Given the description of an element on the screen output the (x, y) to click on. 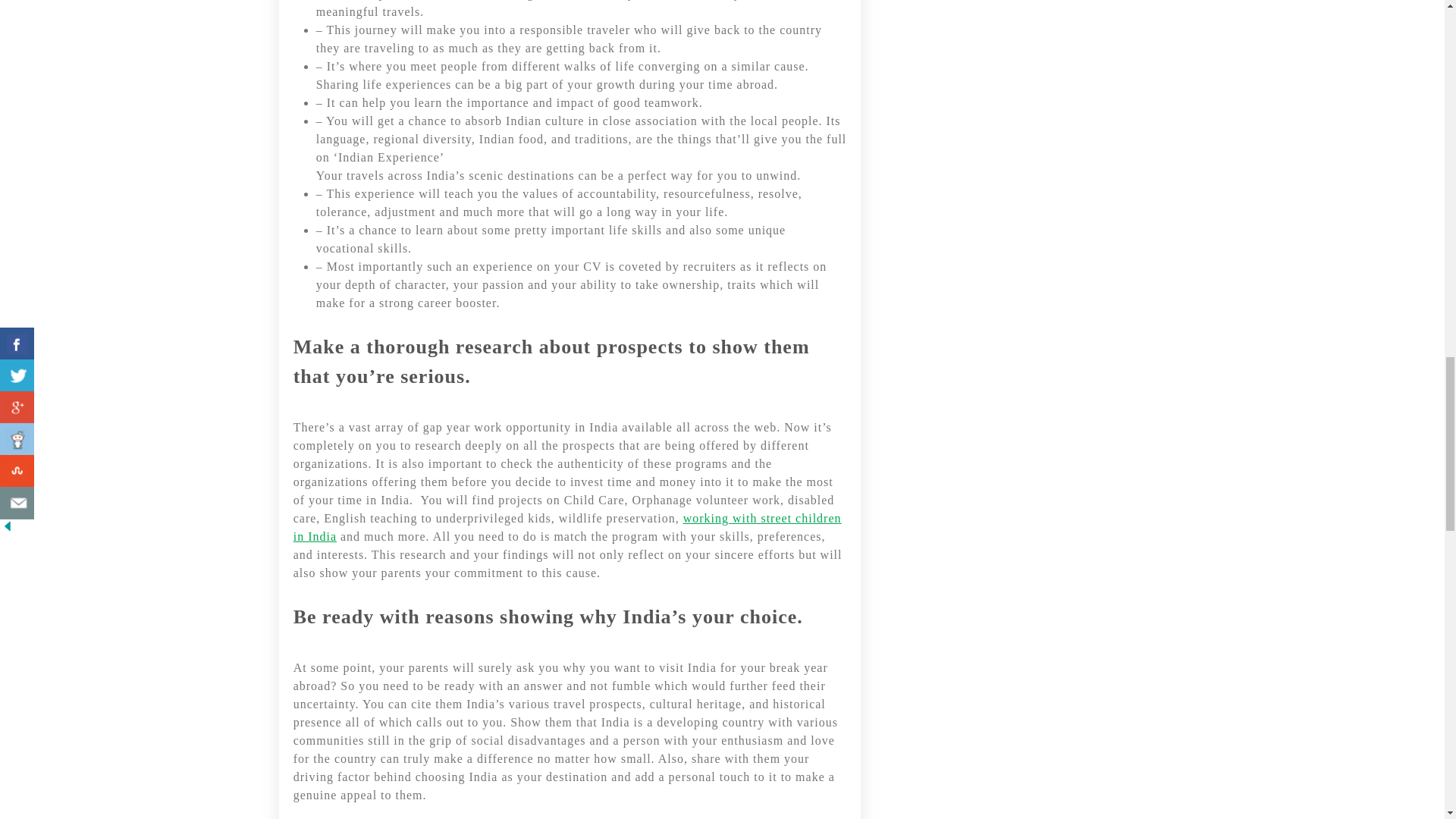
working with street children in India (567, 526)
